Given the description of an element on the screen output the (x, y) to click on. 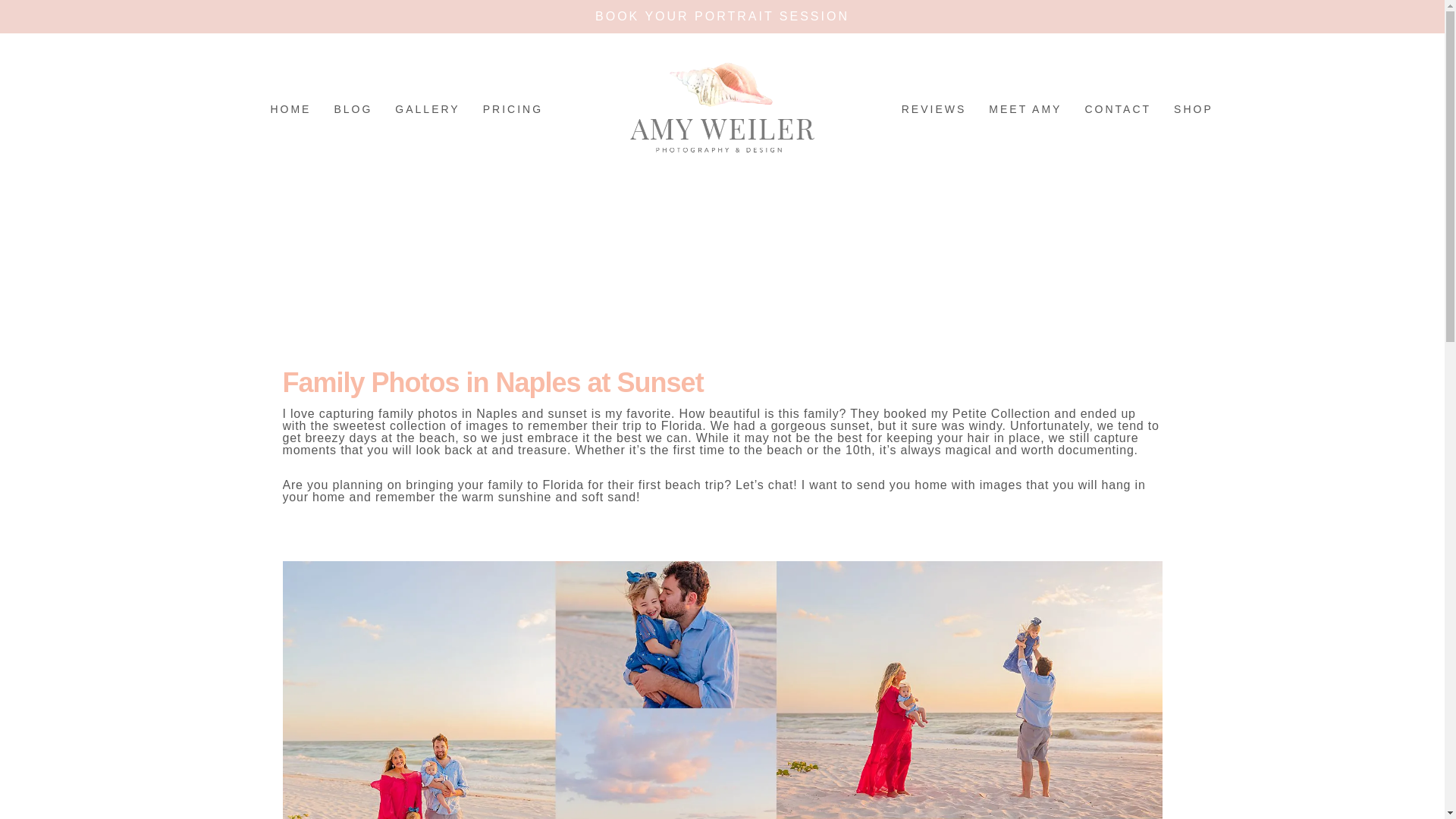
BOOK YOUR PORTRAIT SESSION (721, 15)
CONTACT (1117, 108)
Pricing (513, 108)
HOME (290, 108)
GALLERY (427, 108)
Blog (353, 108)
BLOG (353, 108)
Shop (1193, 108)
Meet Amy (1024, 108)
REVIEWS (933, 108)
Reviews (933, 108)
PRICING (513, 108)
SHOP (1193, 108)
Home (290, 108)
MEET AMY (1024, 108)
